Given the description of an element on the screen output the (x, y) to click on. 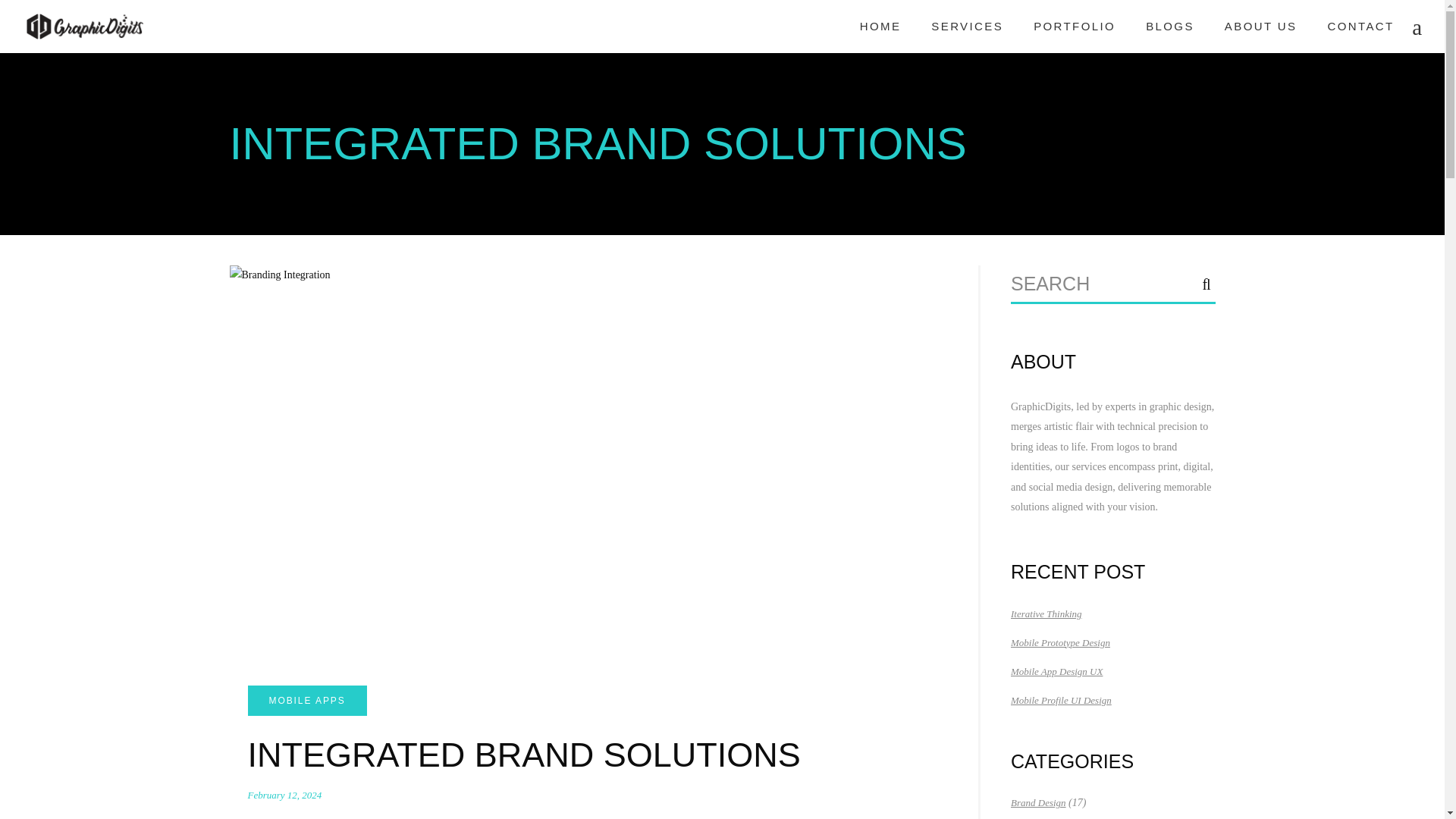
BLOGS (1170, 26)
PORTFOLIO (1074, 26)
HOME (880, 26)
Search for: (1094, 283)
SERVICES (966, 26)
